Given the description of an element on the screen output the (x, y) to click on. 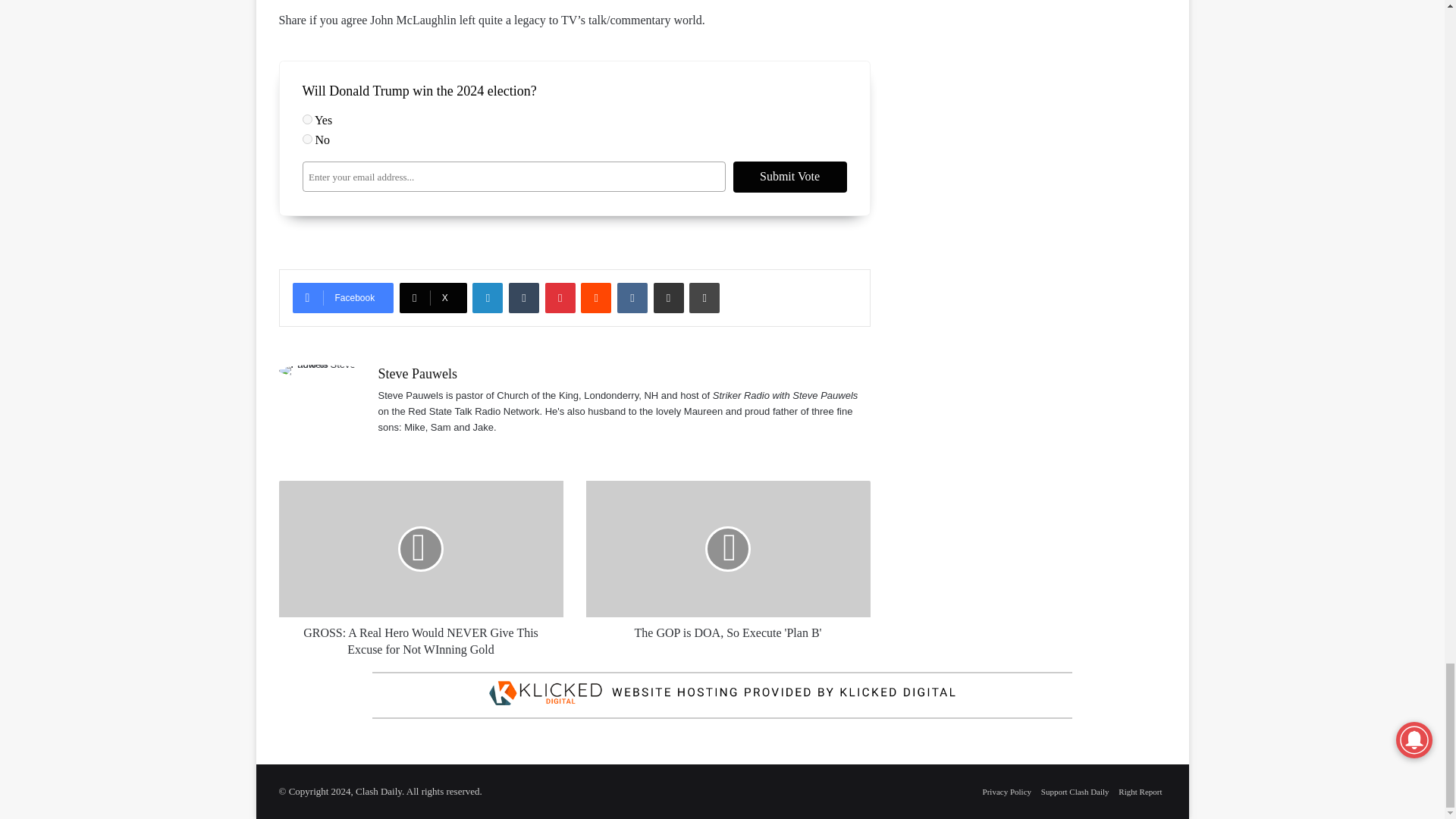
Reddit (595, 297)
10 (306, 139)
Tumblr (523, 297)
Facebook (343, 297)
Print (703, 297)
Pinterest (559, 297)
Submit Vote (788, 176)
X (432, 297)
9 (306, 119)
LinkedIn (486, 297)
VKontakte (632, 297)
Share via Email (668, 297)
